Given the description of an element on the screen output the (x, y) to click on. 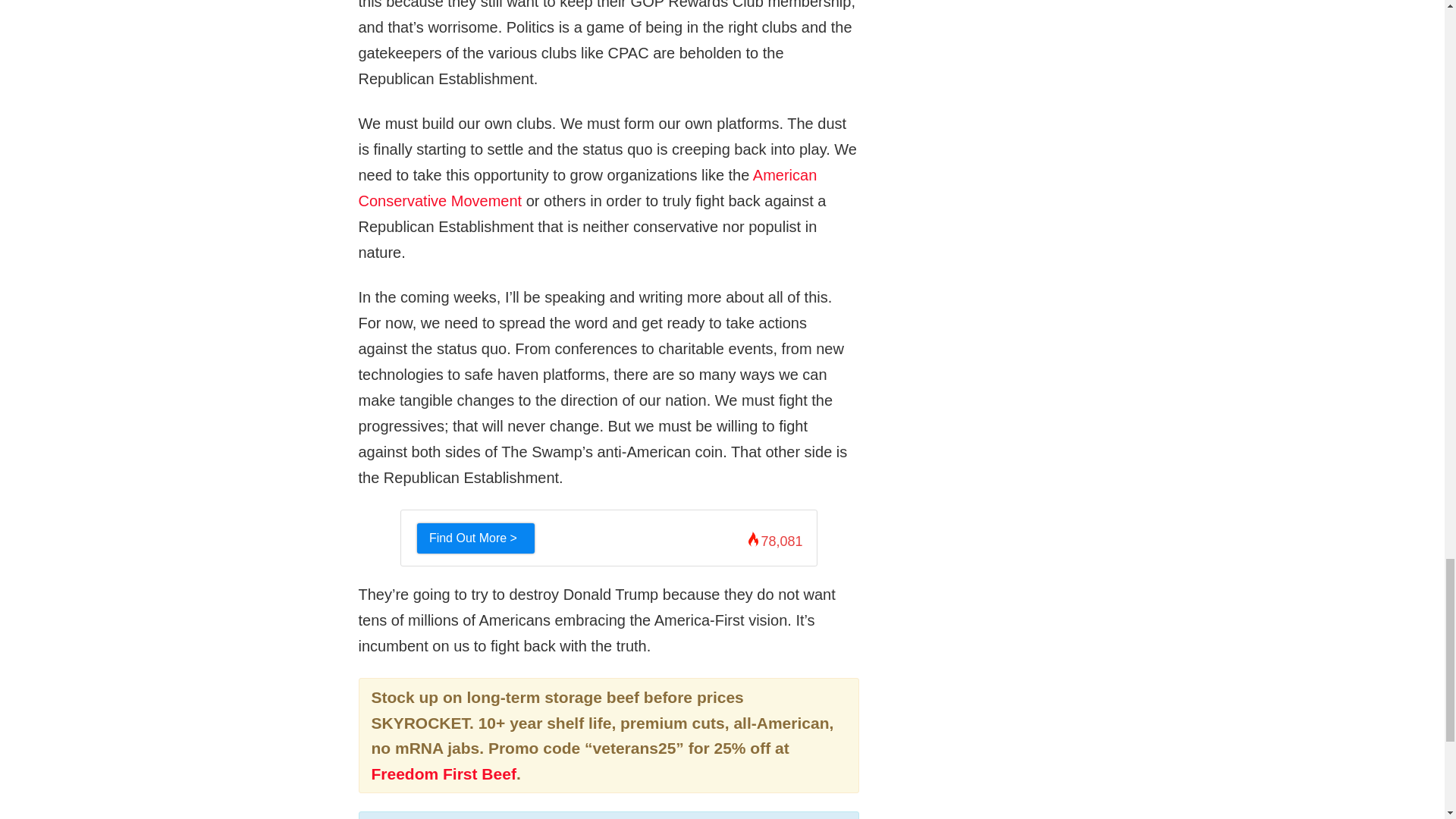
American Conservative Movement (587, 188)
Freedom First Beef (443, 773)
